Given the description of an element on the screen output the (x, y) to click on. 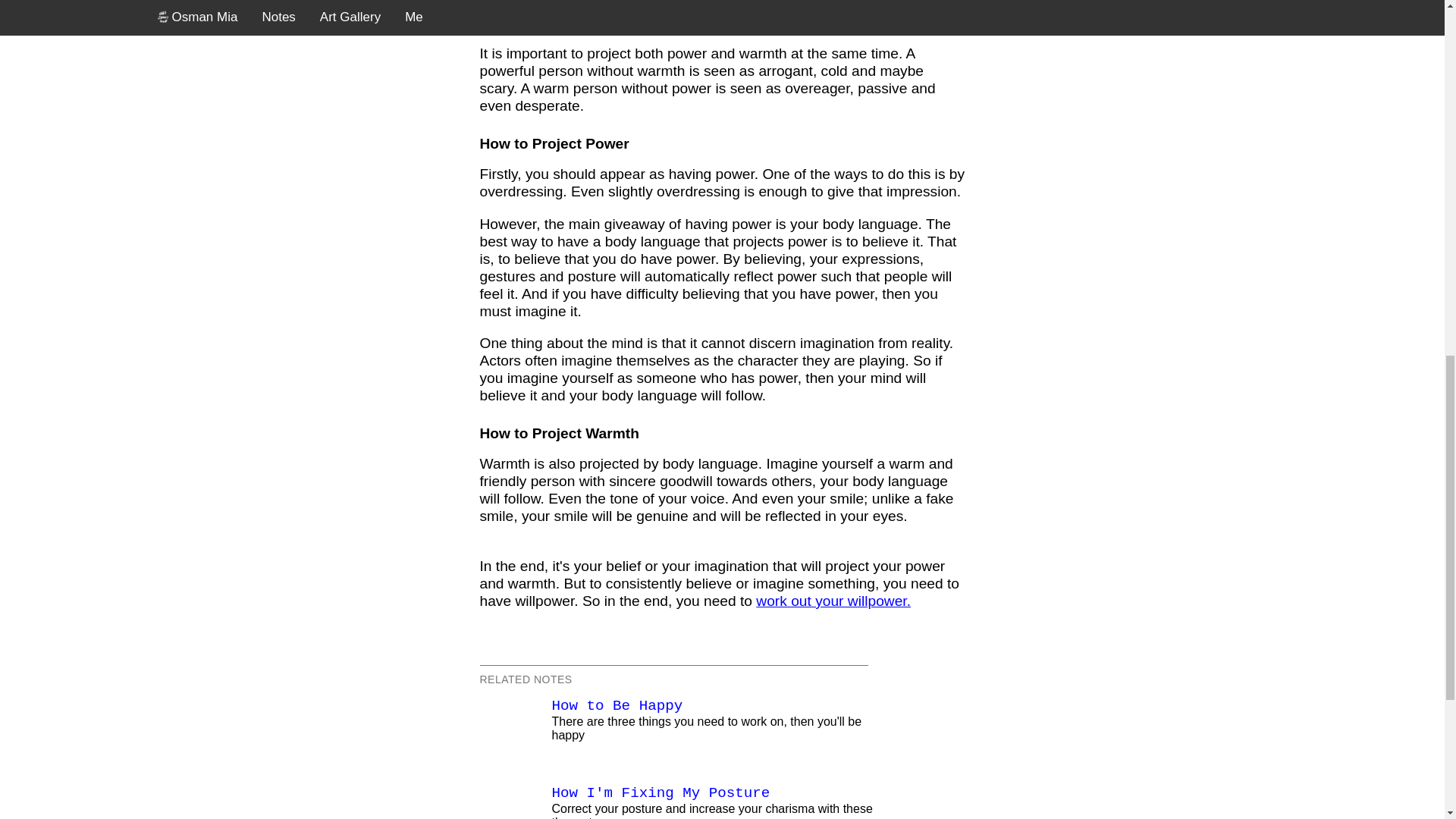
RELATED NOTES (525, 679)
How I'm Fixing My Posture (660, 792)
work out your willpower. (833, 600)
How to Be Happy (616, 705)
